Given the description of an element on the screen output the (x, y) to click on. 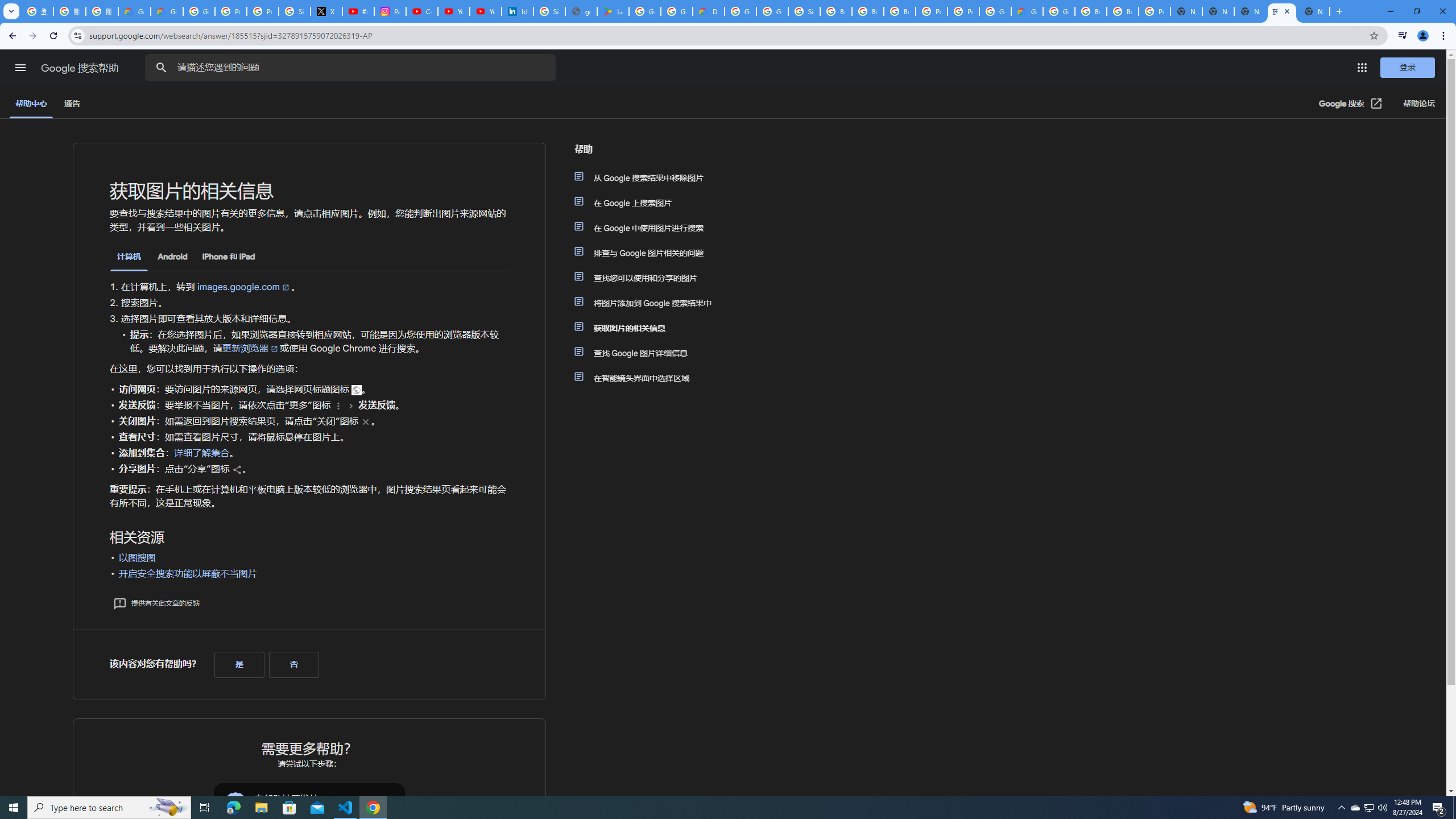
Sign in - Google Accounts (549, 11)
Google Cloud Platform (995, 11)
Google Cloud Estimate Summary (1027, 11)
Browse Chrome as a guest - Computer - Google Chrome Help (1091, 11)
